Given the description of an element on the screen output the (x, y) to click on. 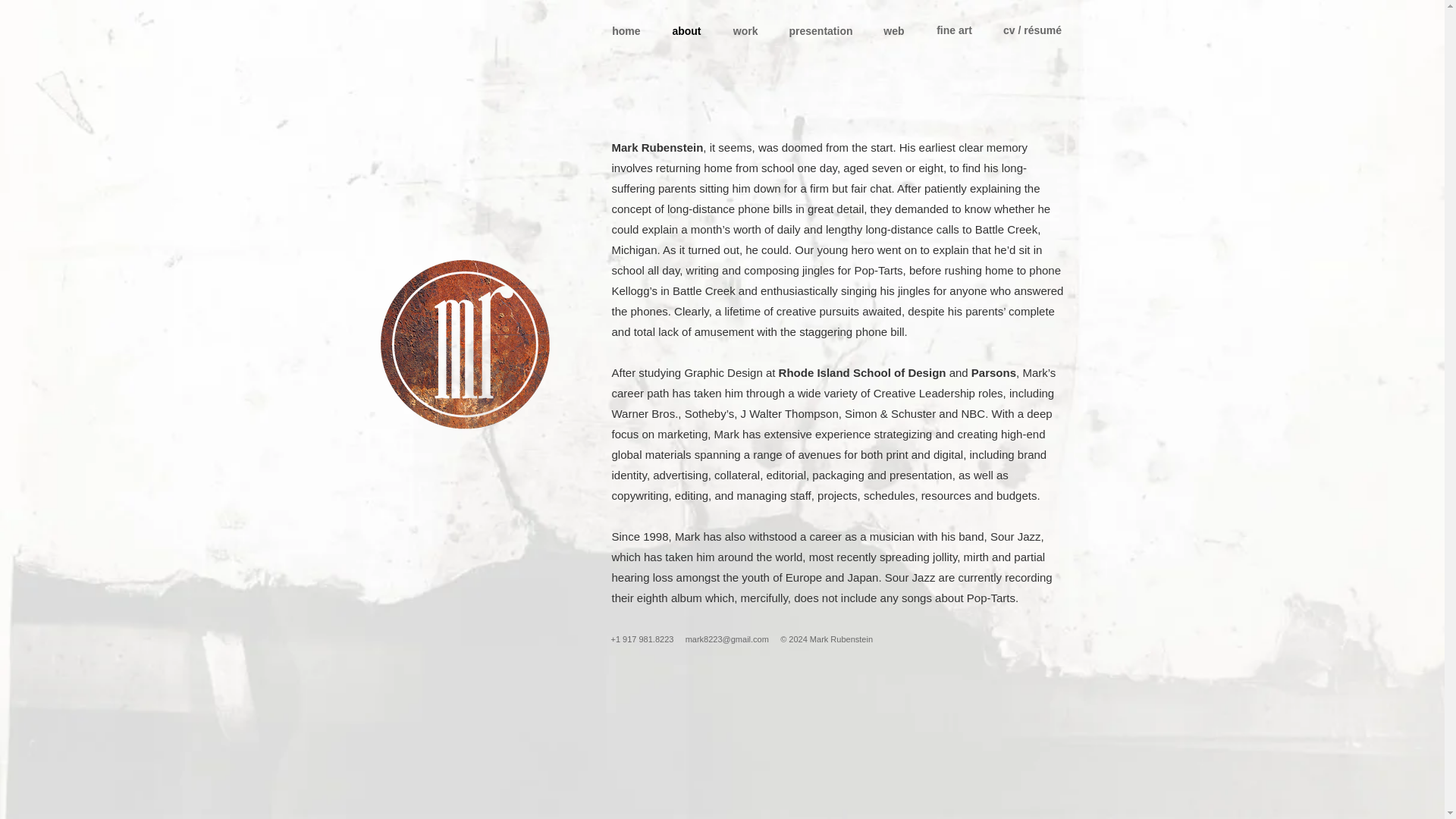
fine art (954, 31)
home (622, 30)
web (891, 30)
work (742, 30)
presentation (817, 30)
about (683, 30)
